Given the description of an element on the screen output the (x, y) to click on. 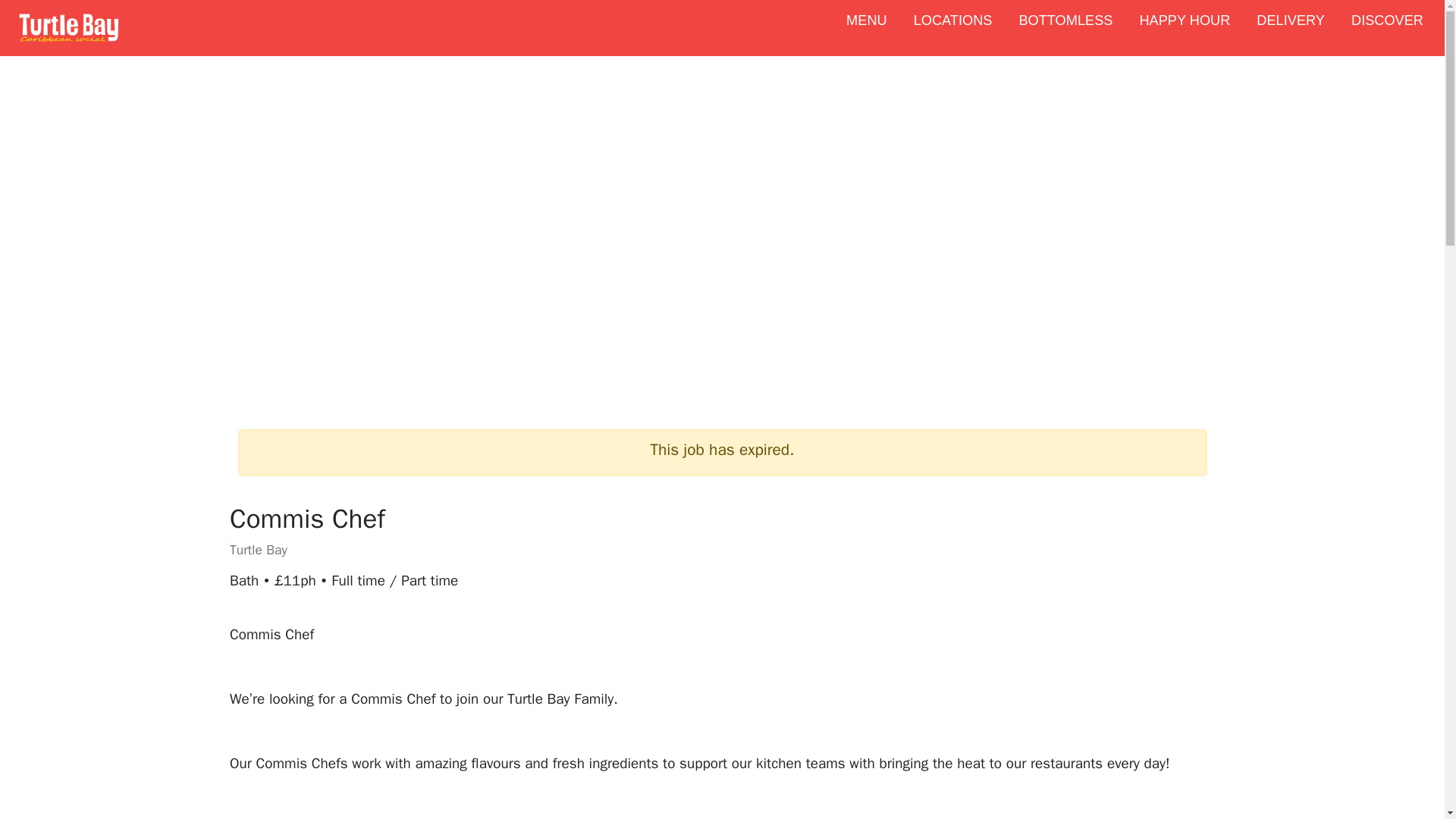
BOTTOMLESS (1065, 27)
LOCATIONS (952, 27)
DELIVERY (1290, 27)
DISCOVER (1386, 27)
MENU (866, 27)
HAPPY HOUR (1184, 27)
